Given the description of an element on the screen output the (x, y) to click on. 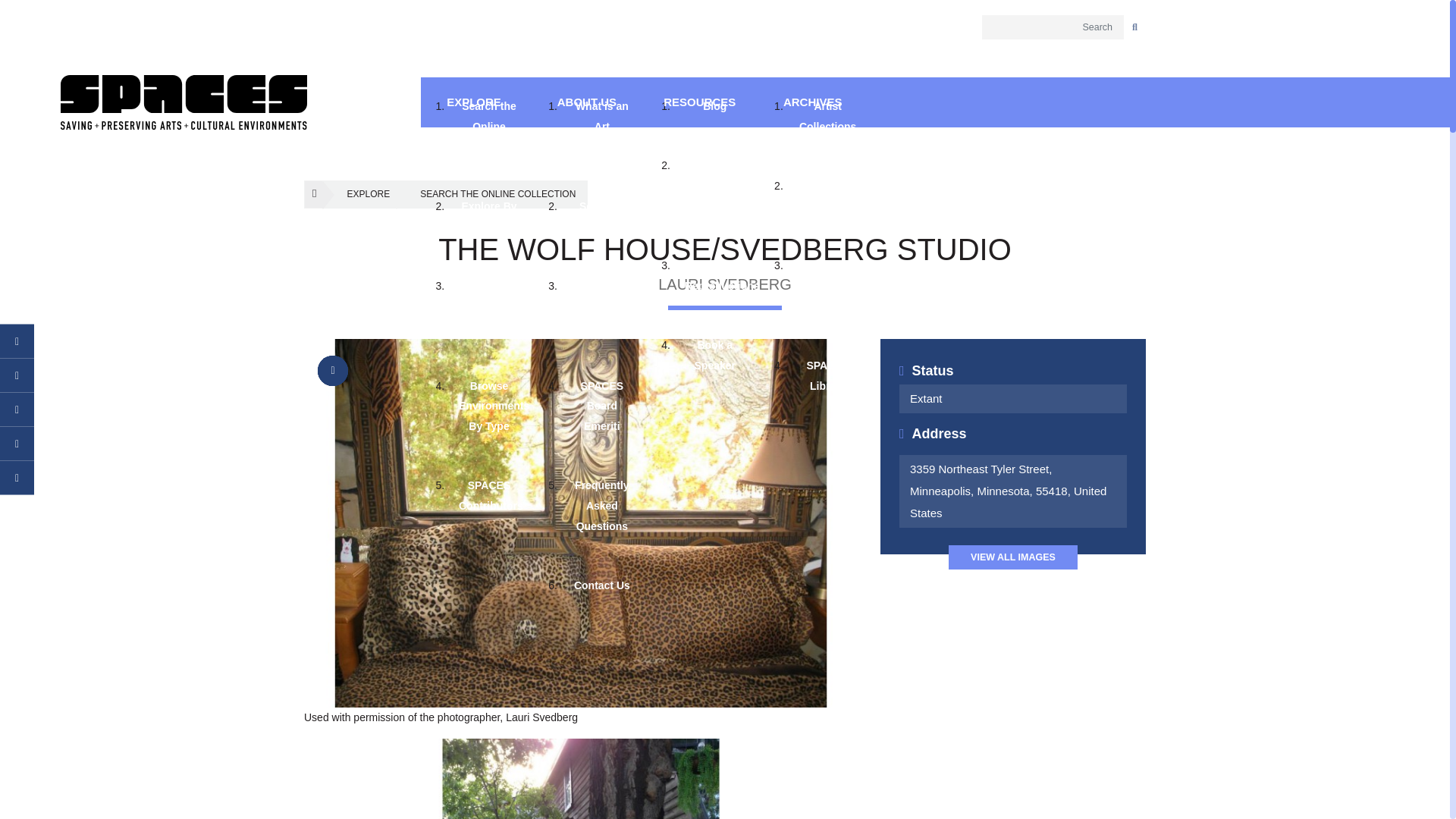
EXPLORE (359, 194)
Go to the Explore By Map page (488, 217)
Contact Us (601, 585)
Go to the Home Page (184, 102)
SPACES Contributors (488, 496)
ABOUT US (586, 101)
Go to the Book a Speaker page (714, 354)
ARCHIVES (812, 101)
Seymour Rosen (601, 217)
RESOURCES (700, 101)
